Given the description of an element on the screen output the (x, y) to click on. 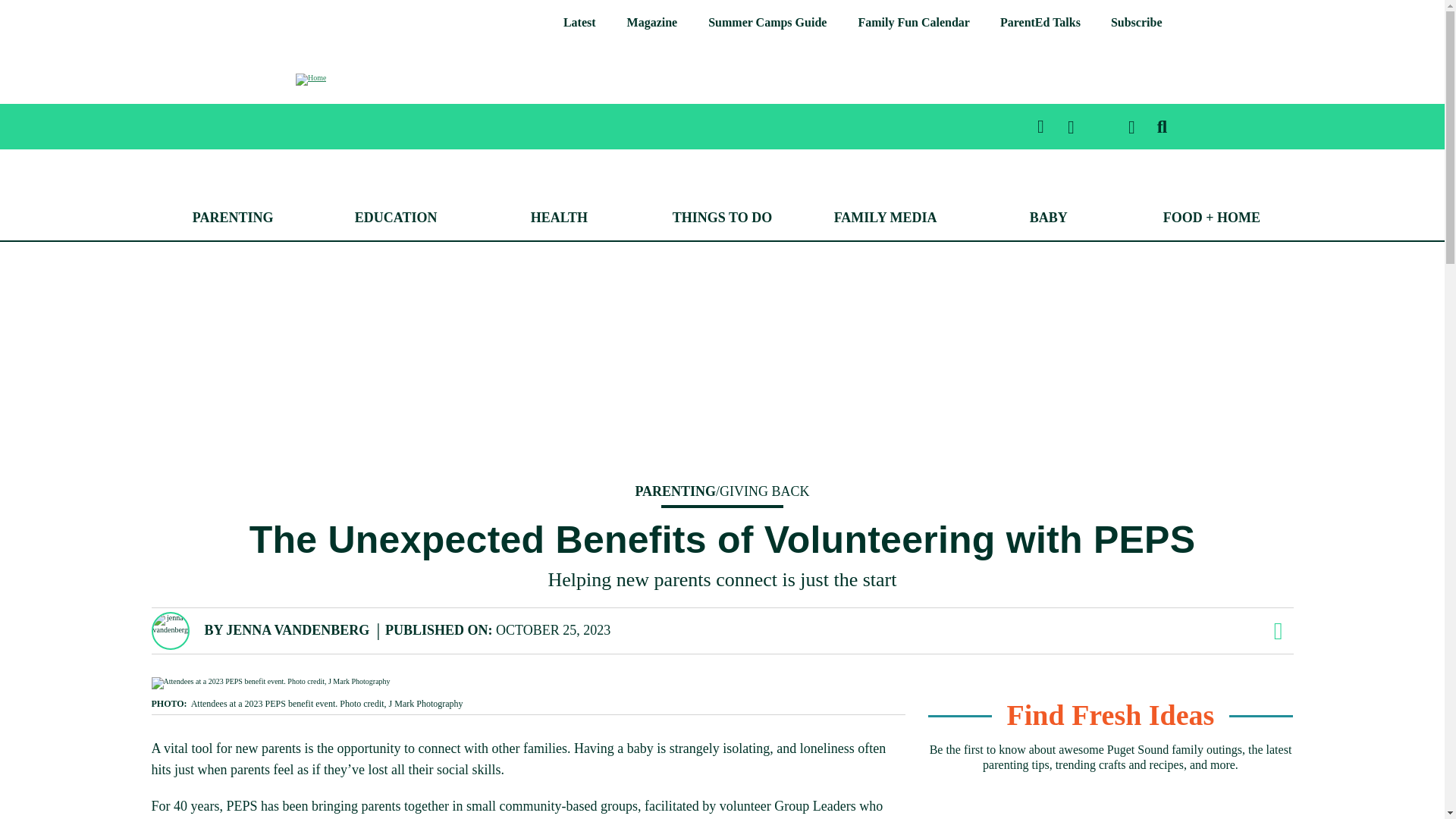
Calendar (913, 22)
Subscribe (1136, 22)
ParentMap (312, 89)
Family Fun Calendar (913, 22)
Magazine (652, 22)
Jenna Vandenberg (297, 630)
ParentEd Talks (1040, 22)
Summer Camps Guide (767, 22)
Home (310, 78)
Latest (579, 22)
